Given the description of an element on the screen output the (x, y) to click on. 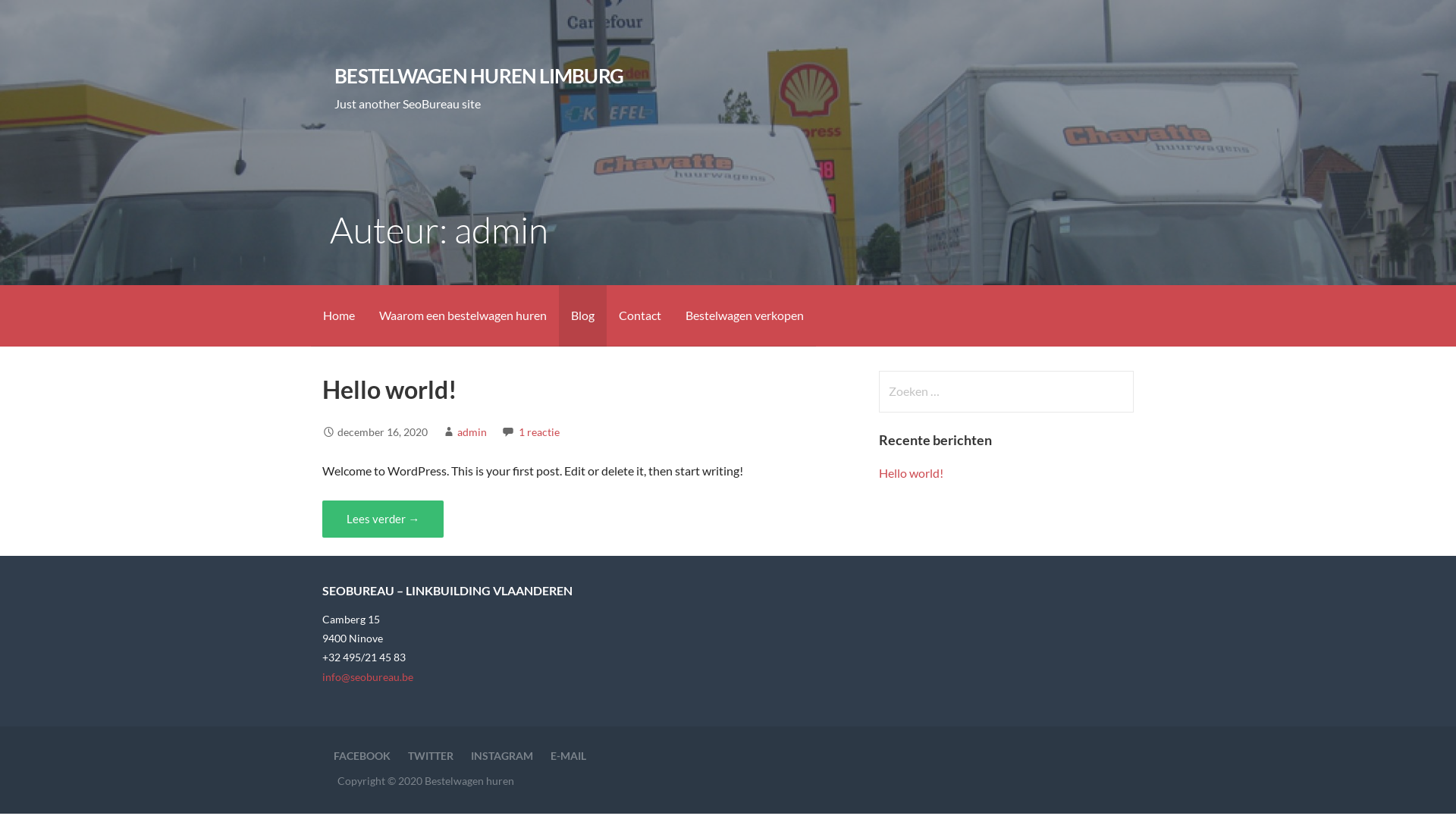
Home Element type: text (338, 315)
Blog Element type: text (582, 315)
Zoeken Element type: text (42, 18)
FACEBOOK Element type: text (361, 755)
BESTELWAGEN HUREN LIMBURG Element type: text (478, 75)
Contact Element type: text (639, 315)
Waarom een bestelwagen huren Element type: text (462, 315)
admin Element type: text (471, 431)
Hello world! Element type: text (389, 389)
E-MAIL Element type: text (568, 755)
1 reactie Element type: text (538, 431)
INSTAGRAM Element type: text (501, 755)
info@seobureau.be Element type: text (367, 676)
TWITTER Element type: text (430, 755)
Bestelwagen verkopen Element type: text (744, 315)
Hello world! Element type: text (910, 472)
